Given the description of an element on the screen output the (x, y) to click on. 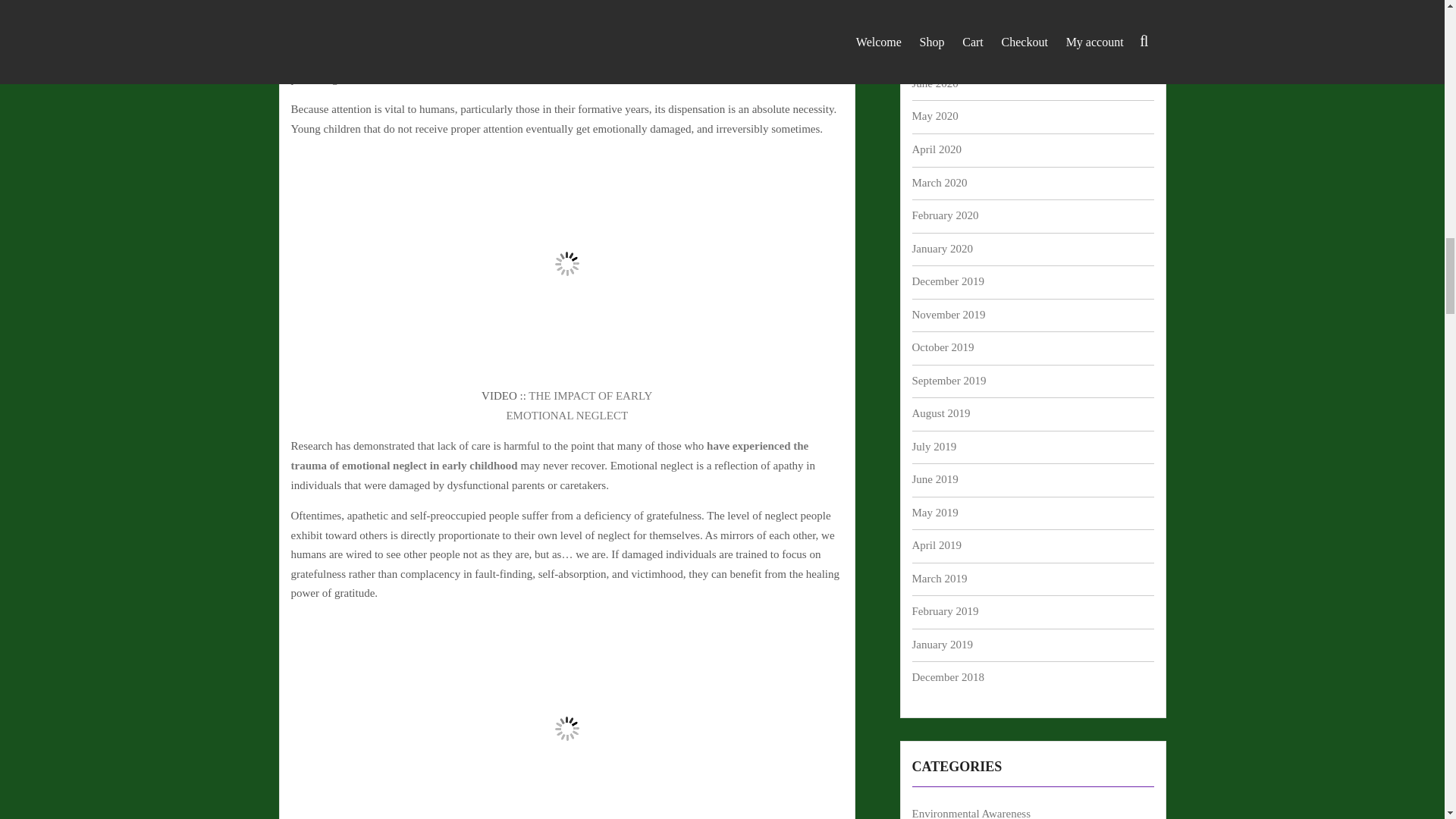
THE IMPACT OF EARLY EMOTIONAL NEGLECT (578, 405)
